Given the description of an element on the screen output the (x, y) to click on. 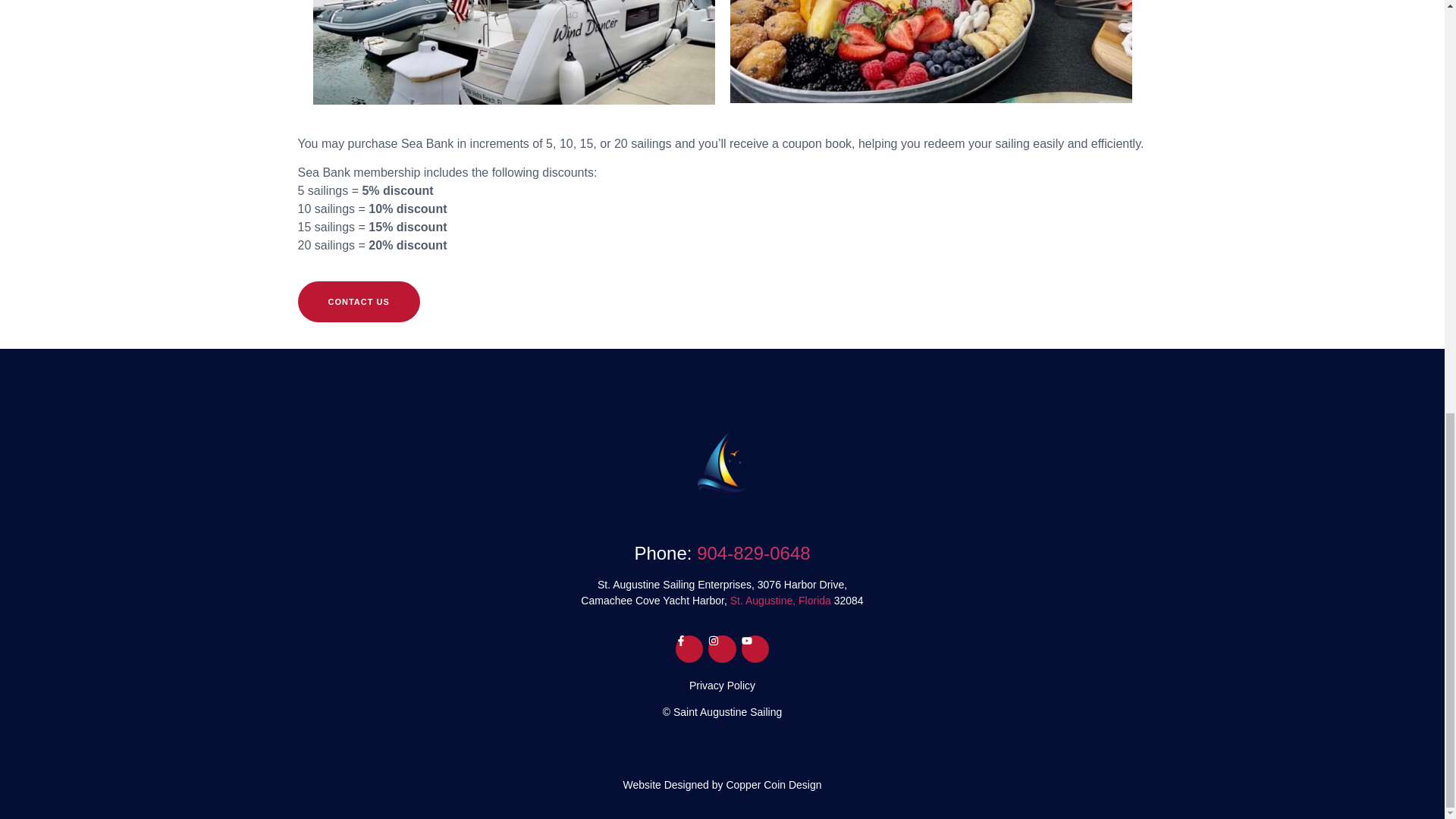
FareHarbor (1342, 48)
